Given the description of an element on the screen output the (x, y) to click on. 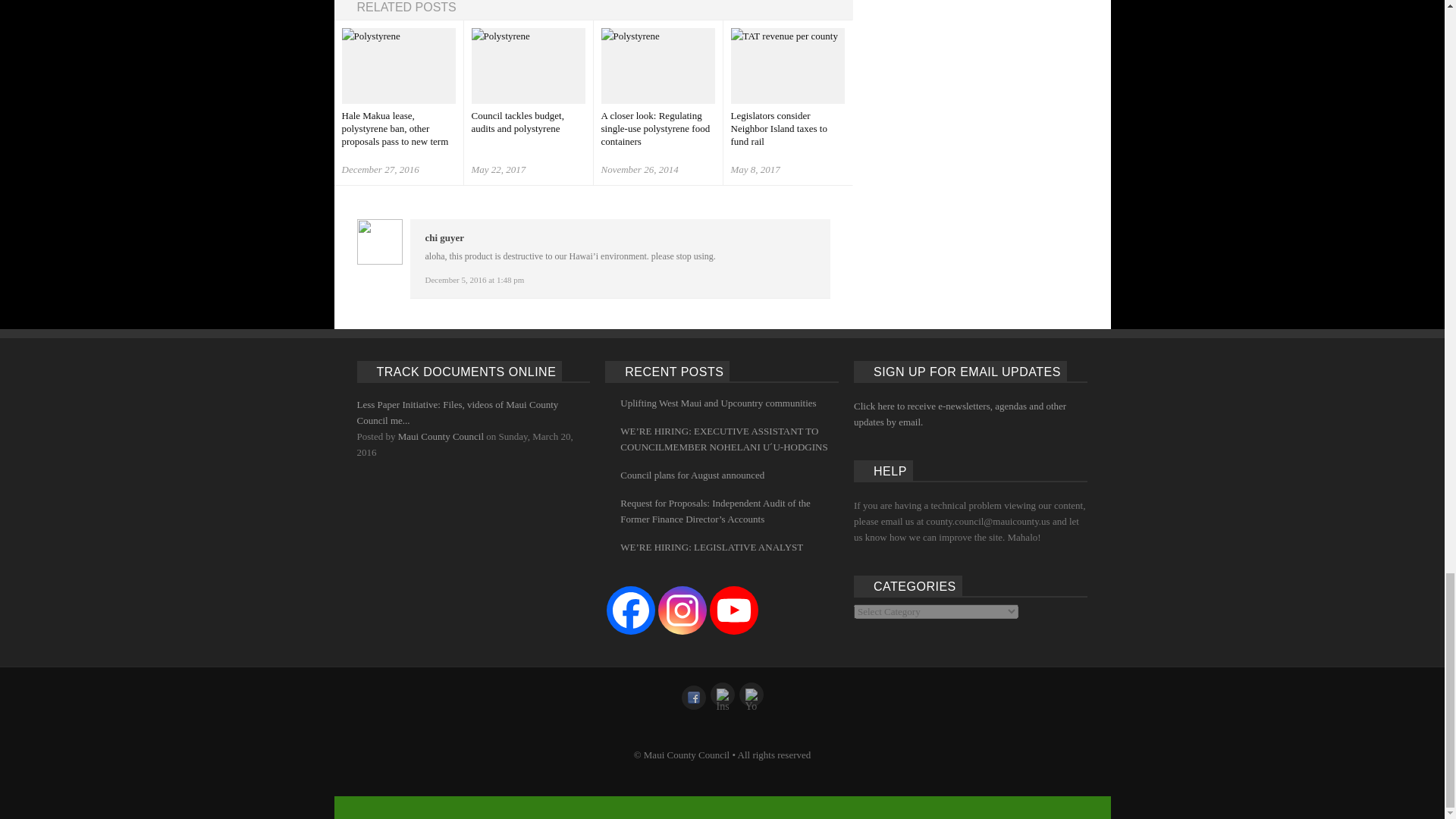
Youtube Channel (734, 610)
Facebook (631, 610)
Instagram (682, 610)
